Given the description of an element on the screen output the (x, y) to click on. 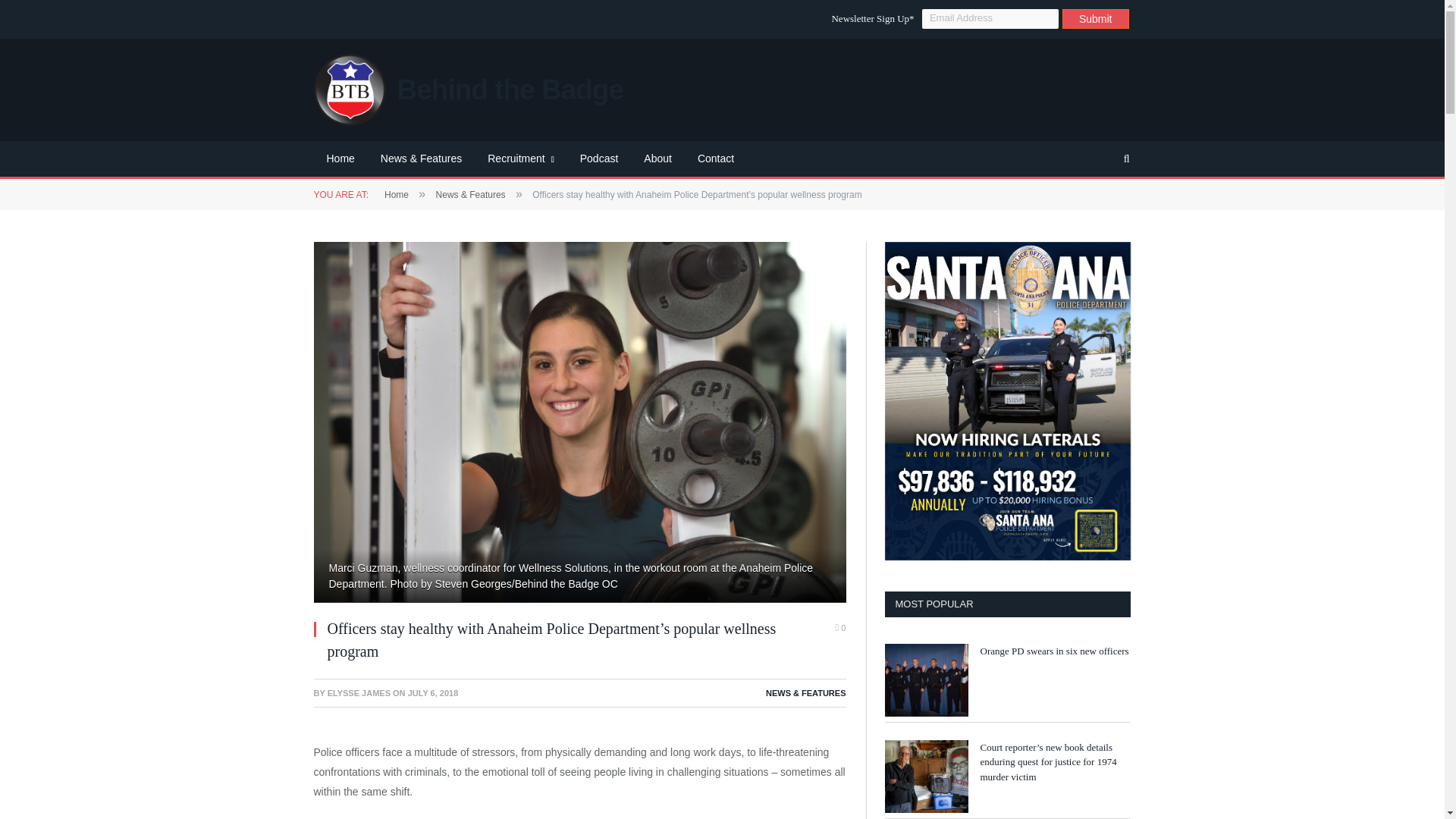
Behind the Badge (469, 89)
Submit (1095, 18)
Contact (715, 159)
Submit (1095, 18)
Behind the Badge (469, 89)
Recruitment (520, 159)
Podcast (599, 159)
Home (341, 159)
2018-07-06 (432, 692)
Orange PD swears in six new officers (1053, 650)
Home (396, 194)
About (657, 159)
